Given the description of an element on the screen output the (x, y) to click on. 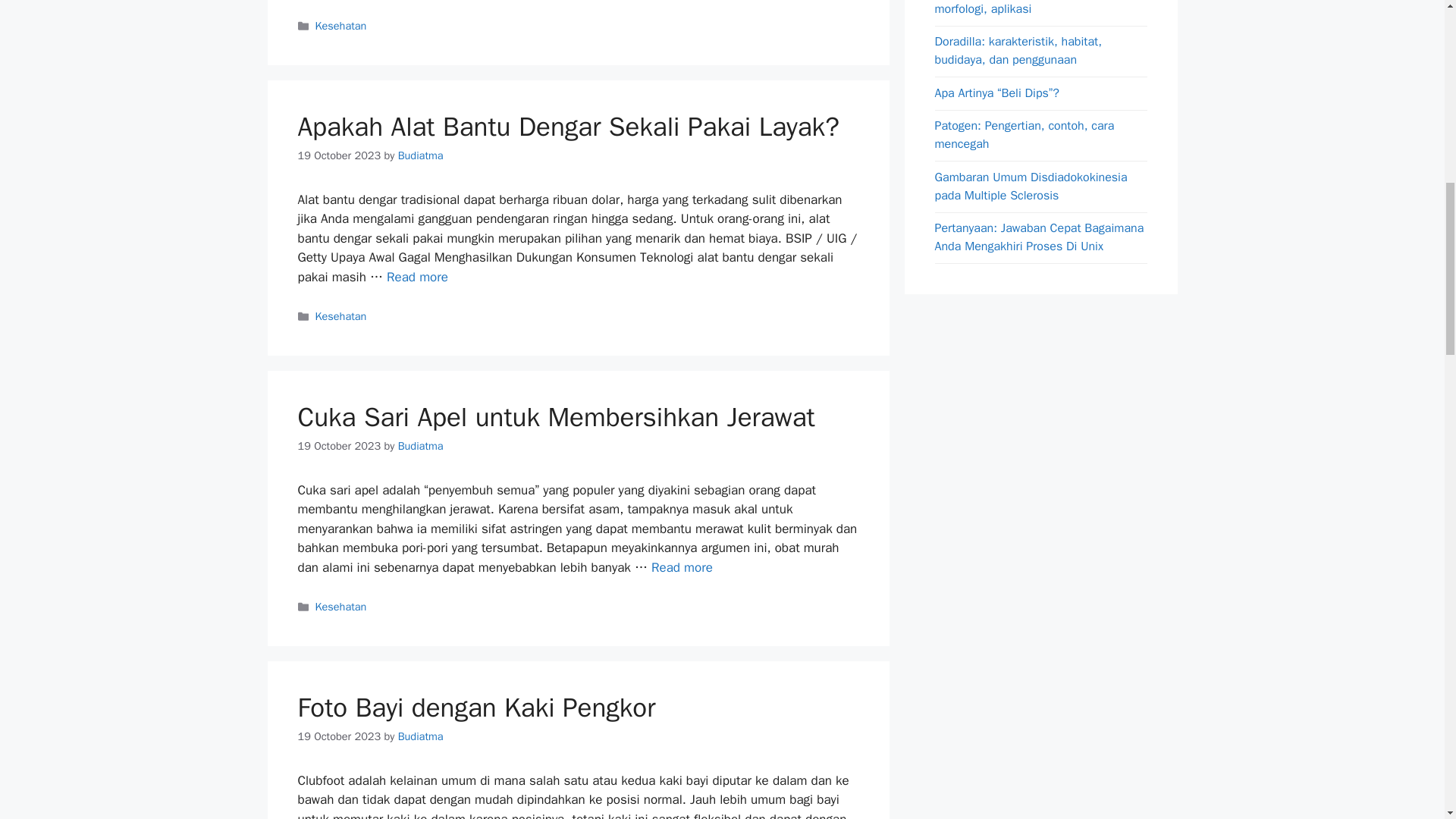
Apakah Alat Bantu Dengar Sekali Pakai Layak? (417, 277)
Kesehatan (340, 25)
Read more (681, 567)
View all posts by Budiatma (420, 445)
Cuka Sari Apel untuk Membersihkan Jerawat (681, 567)
Apakah Alat Bantu Dengar Sekali Pakai Layak? (567, 126)
Budiatma (420, 155)
Read more (417, 277)
View all posts by Budiatma (420, 735)
Kesehatan (340, 606)
Foto Bayi dengan Kaki Pengkor (476, 707)
View all posts by Budiatma (420, 155)
Budiatma (420, 445)
Budiatma (420, 735)
Kesehatan (340, 315)
